Given the description of an element on the screen output the (x, y) to click on. 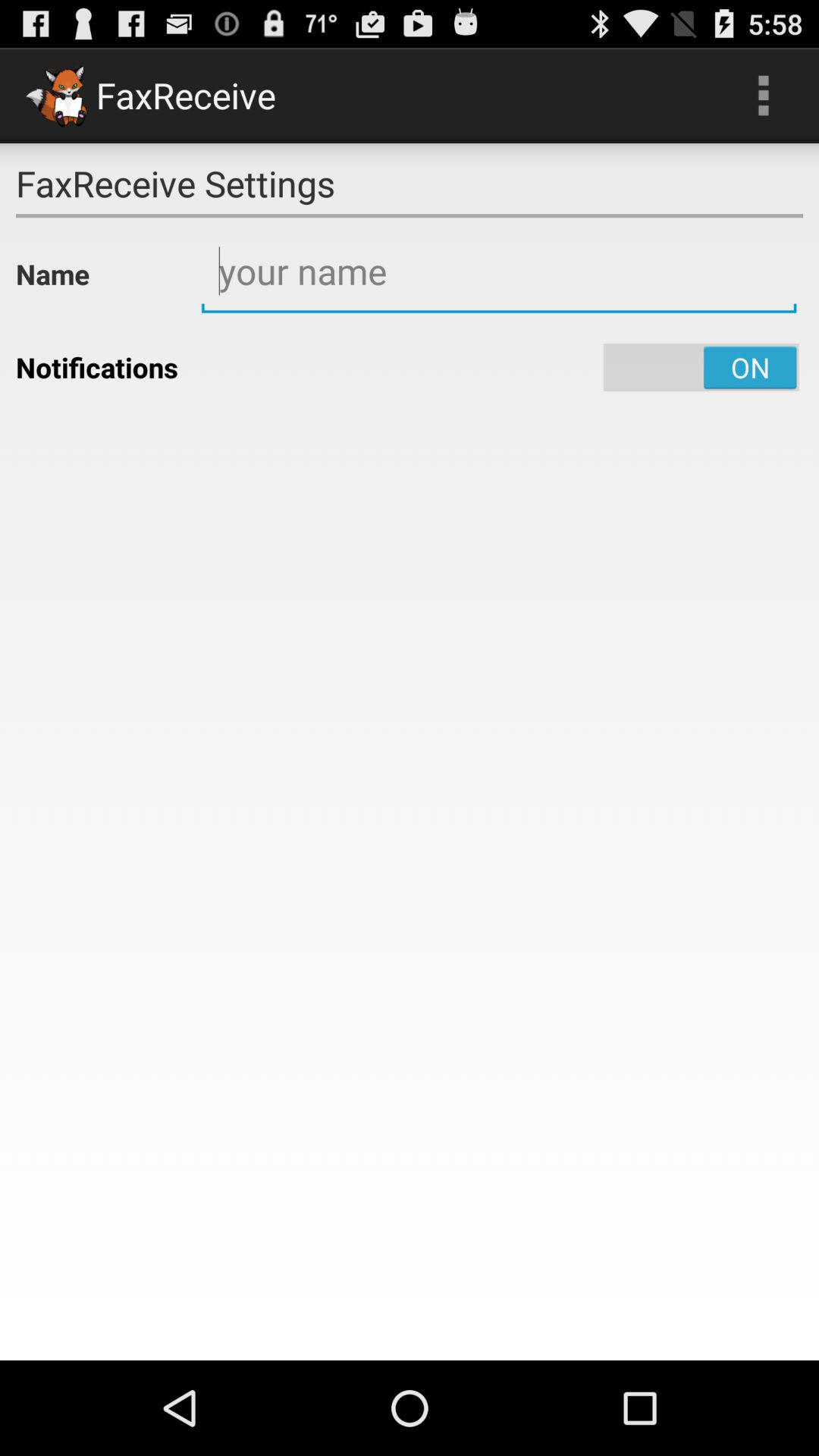
goods (499, 271)
